Given the description of an element on the screen output the (x, y) to click on. 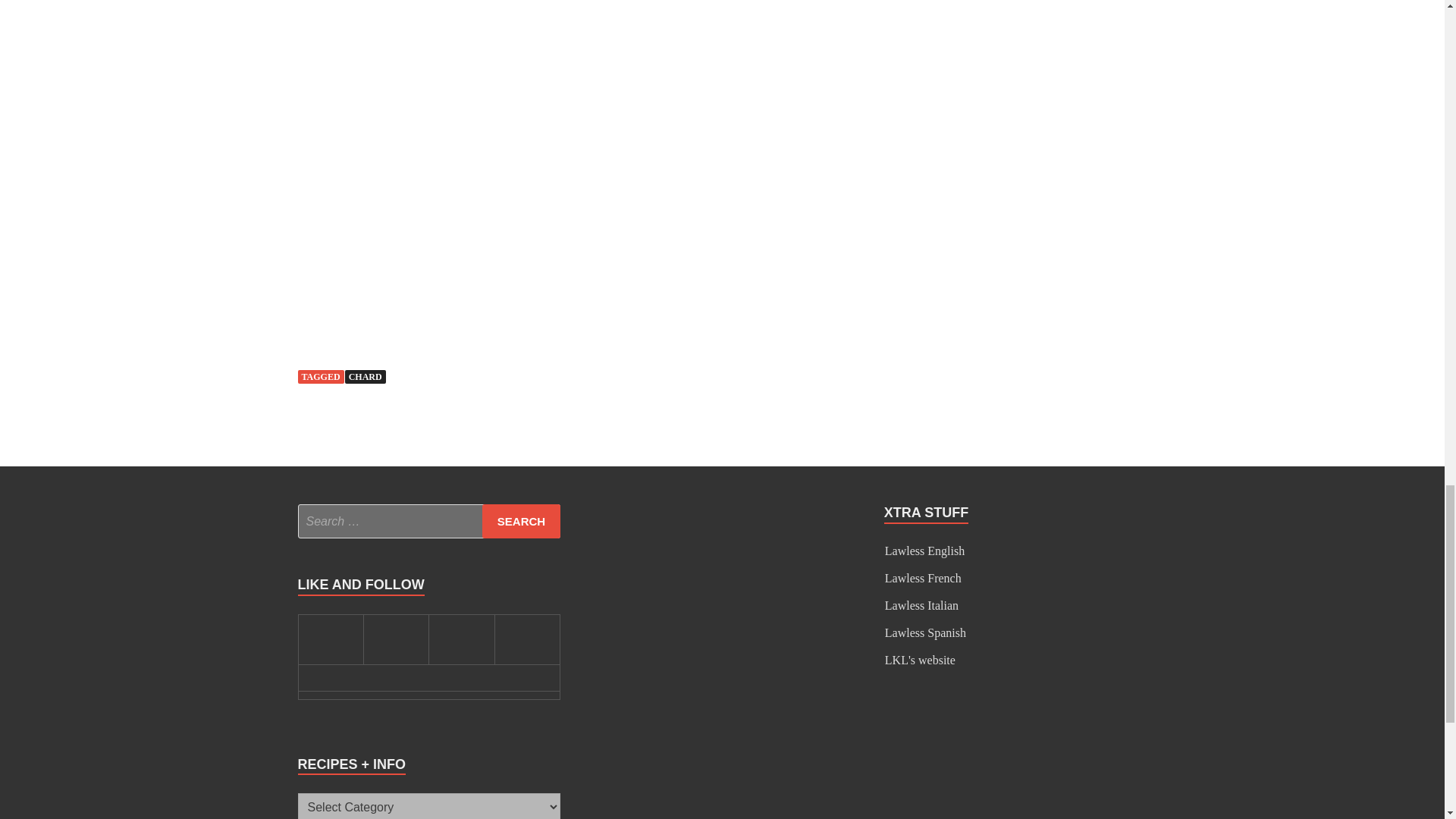
Learn French online (922, 577)
Search (520, 521)
Search (520, 521)
Learn English online (924, 550)
